Given the description of an element on the screen output the (x, y) to click on. 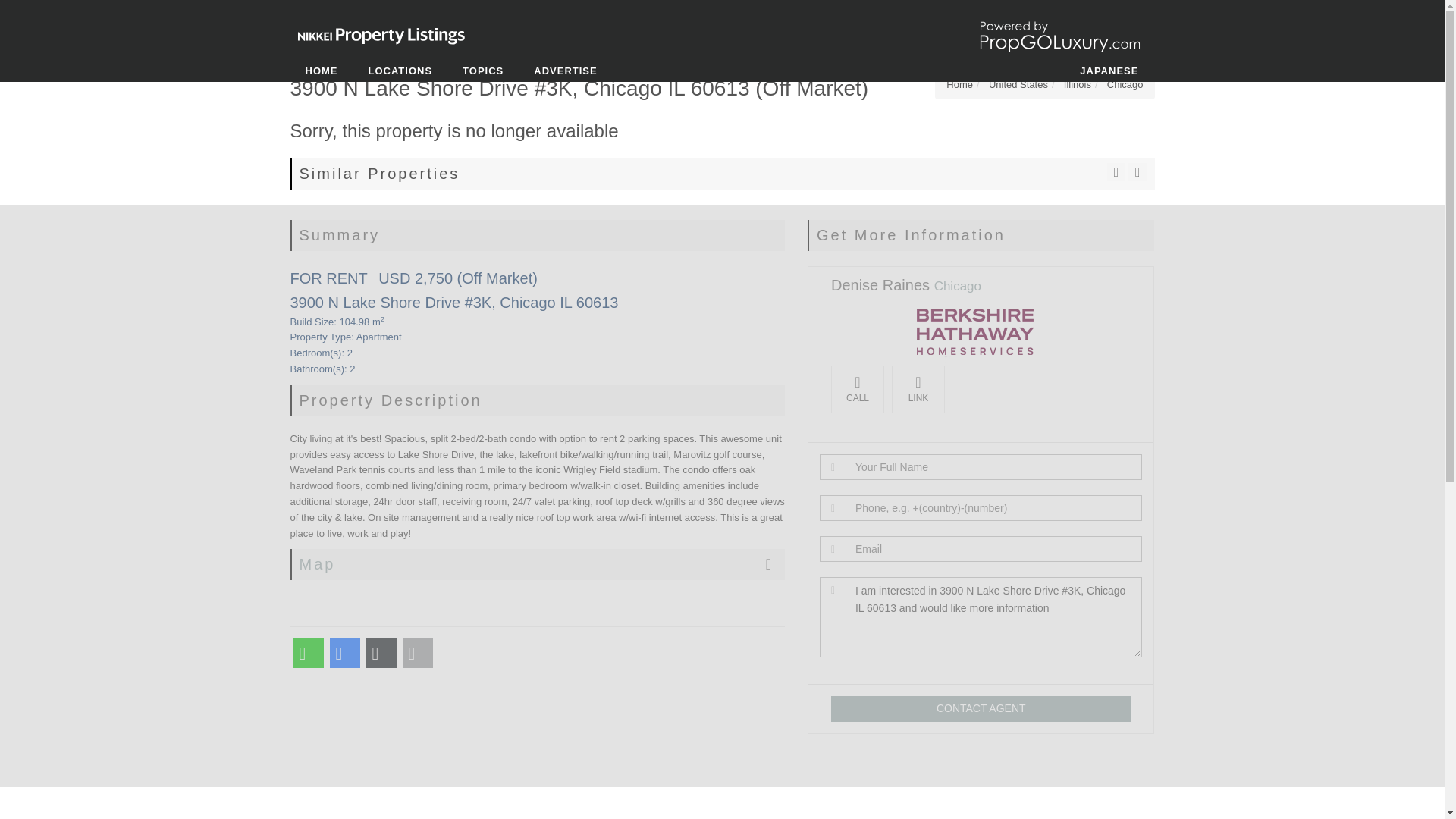
LOCATIONS (400, 71)
HOME (320, 71)
ADVERTISE (564, 71)
TOPICS (482, 71)
